Given the description of an element on the screen output the (x, y) to click on. 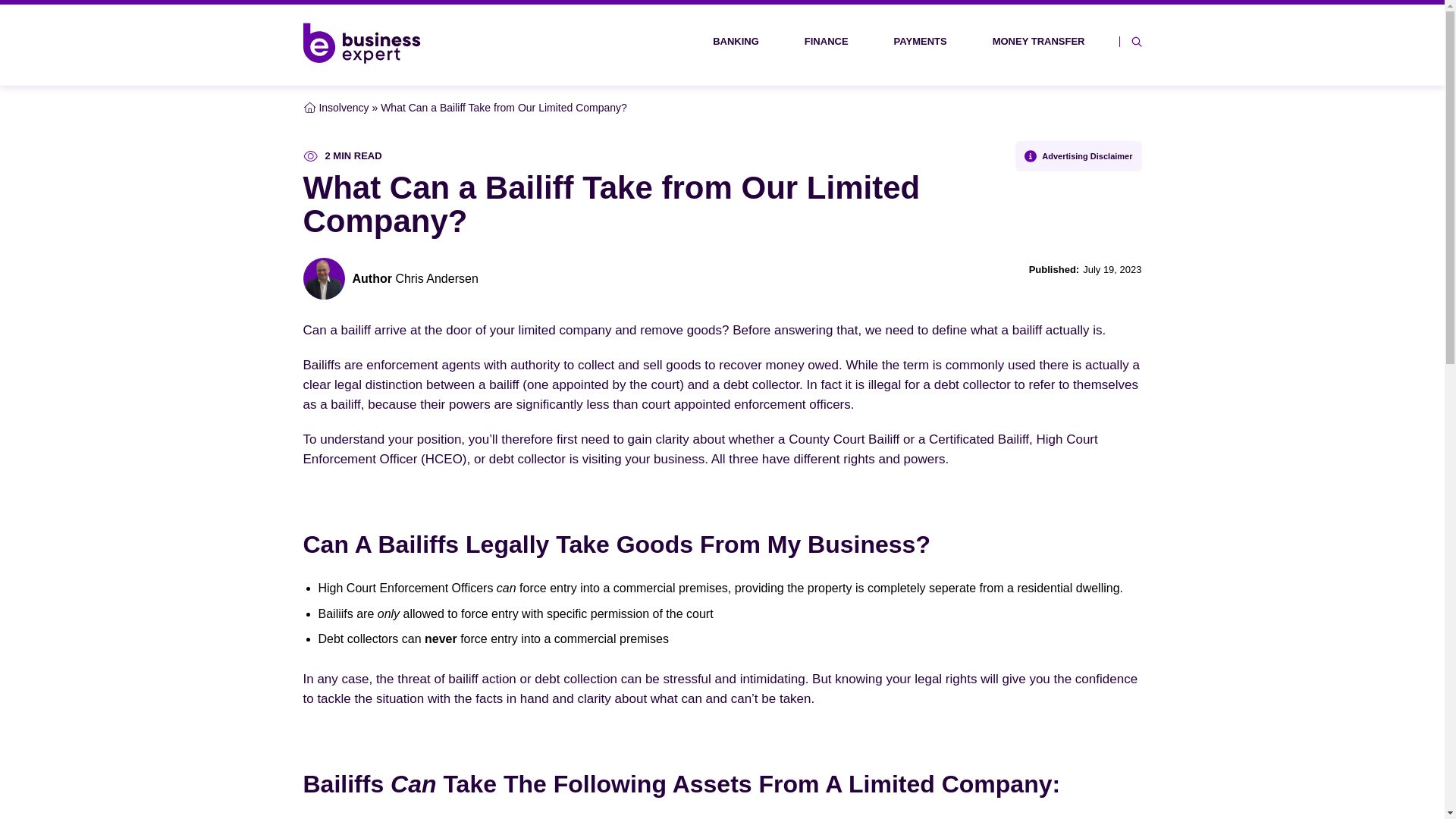
PAYMENTS (931, 41)
FINANCE (837, 41)
MONEY TRANSFER (1050, 41)
BANKING (747, 41)
